Given the description of an element on the screen output the (x, y) to click on. 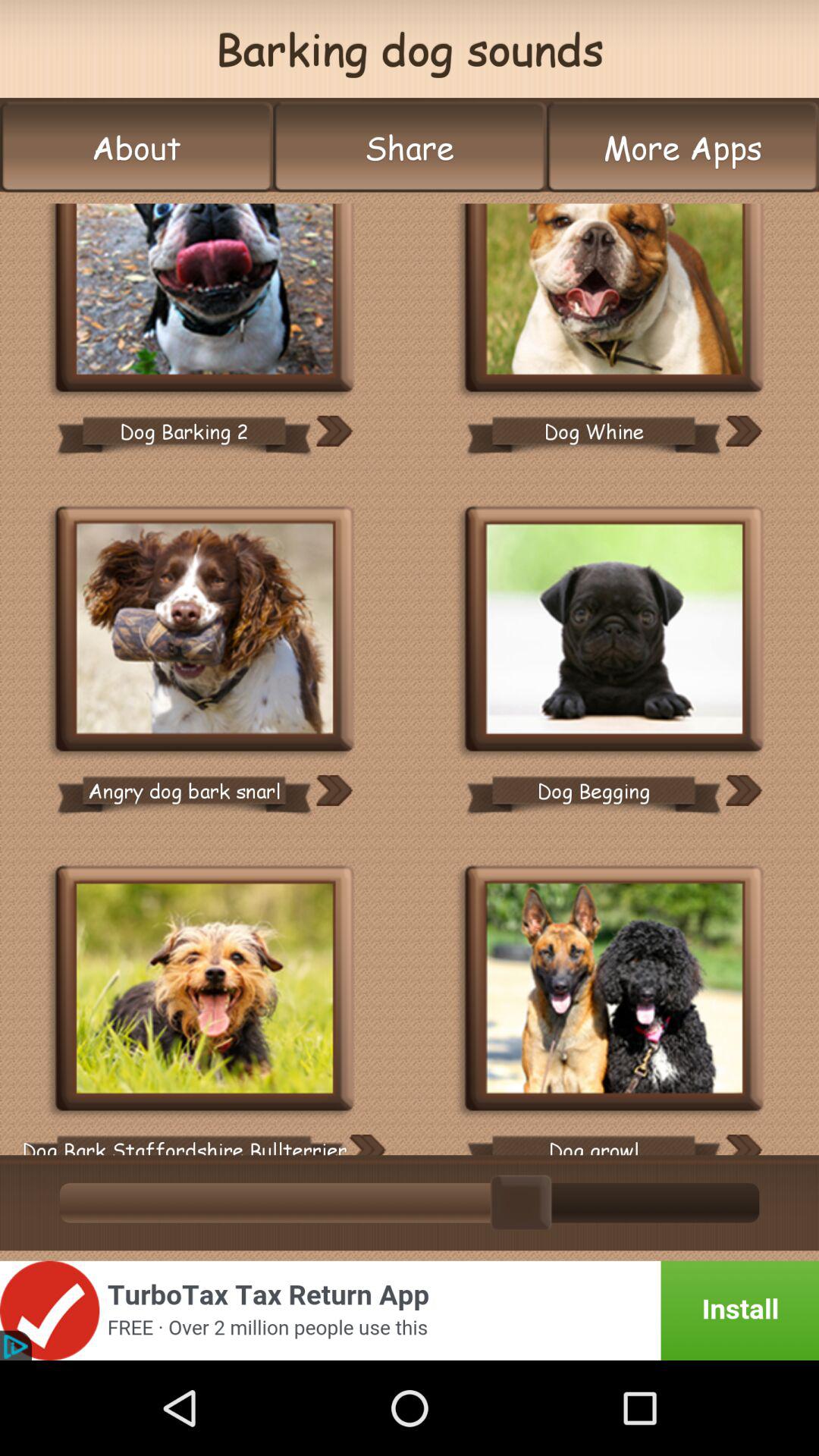
click app below the barking dog sounds app (136, 147)
